Given the description of an element on the screen output the (x, y) to click on. 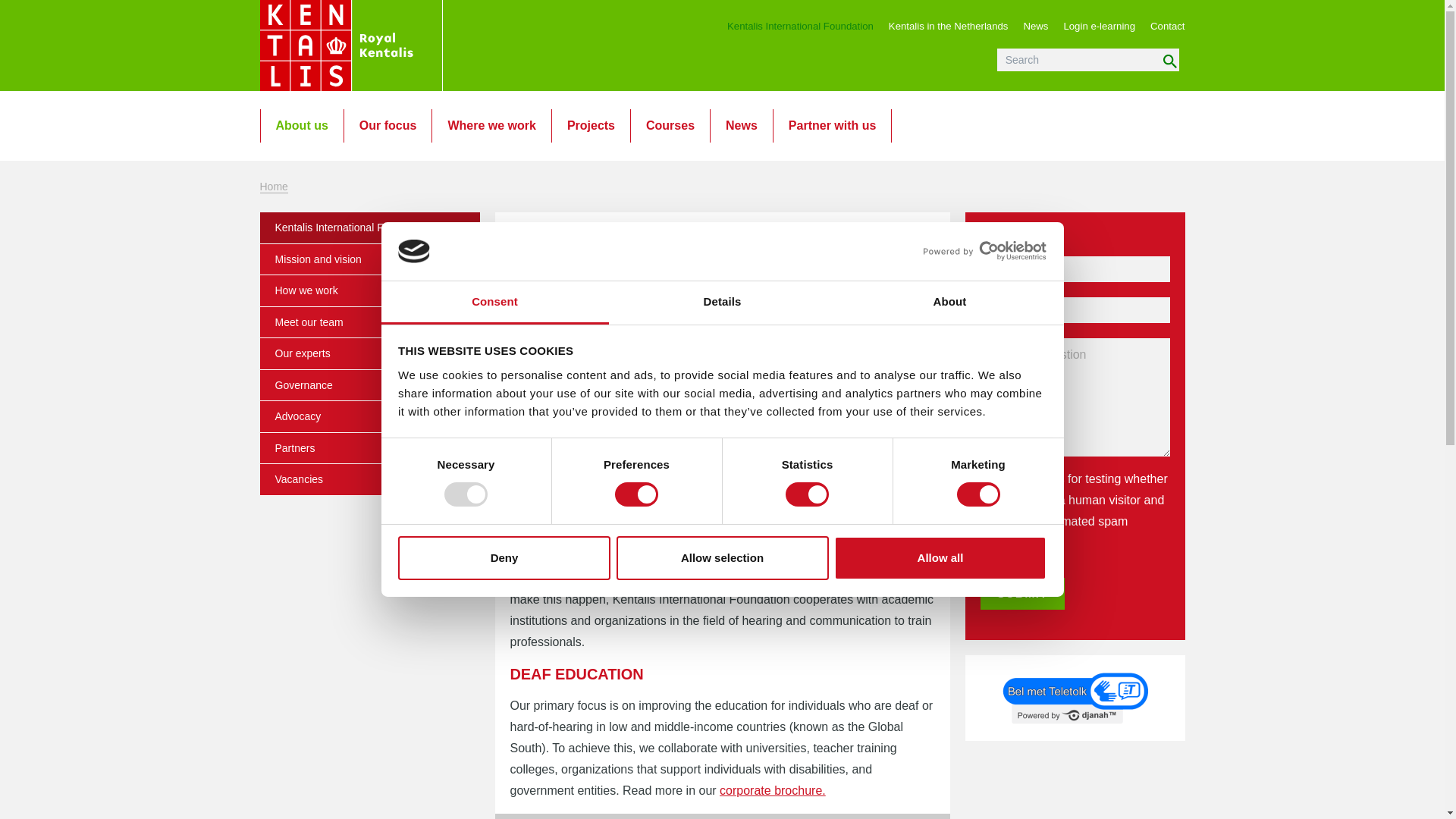
Contact (1167, 25)
Details (721, 302)
Luister naar de pagina met ReadSpeaker (574, 237)
Kentalis in the Netherlands (948, 25)
Allow selection (721, 557)
Allow all (940, 557)
webReader menu (520, 237)
Submit (1021, 593)
Consent (494, 302)
Apply (1169, 60)
News (1035, 25)
Login e-learning (1098, 25)
About (948, 302)
